Given the description of an element on the screen output the (x, y) to click on. 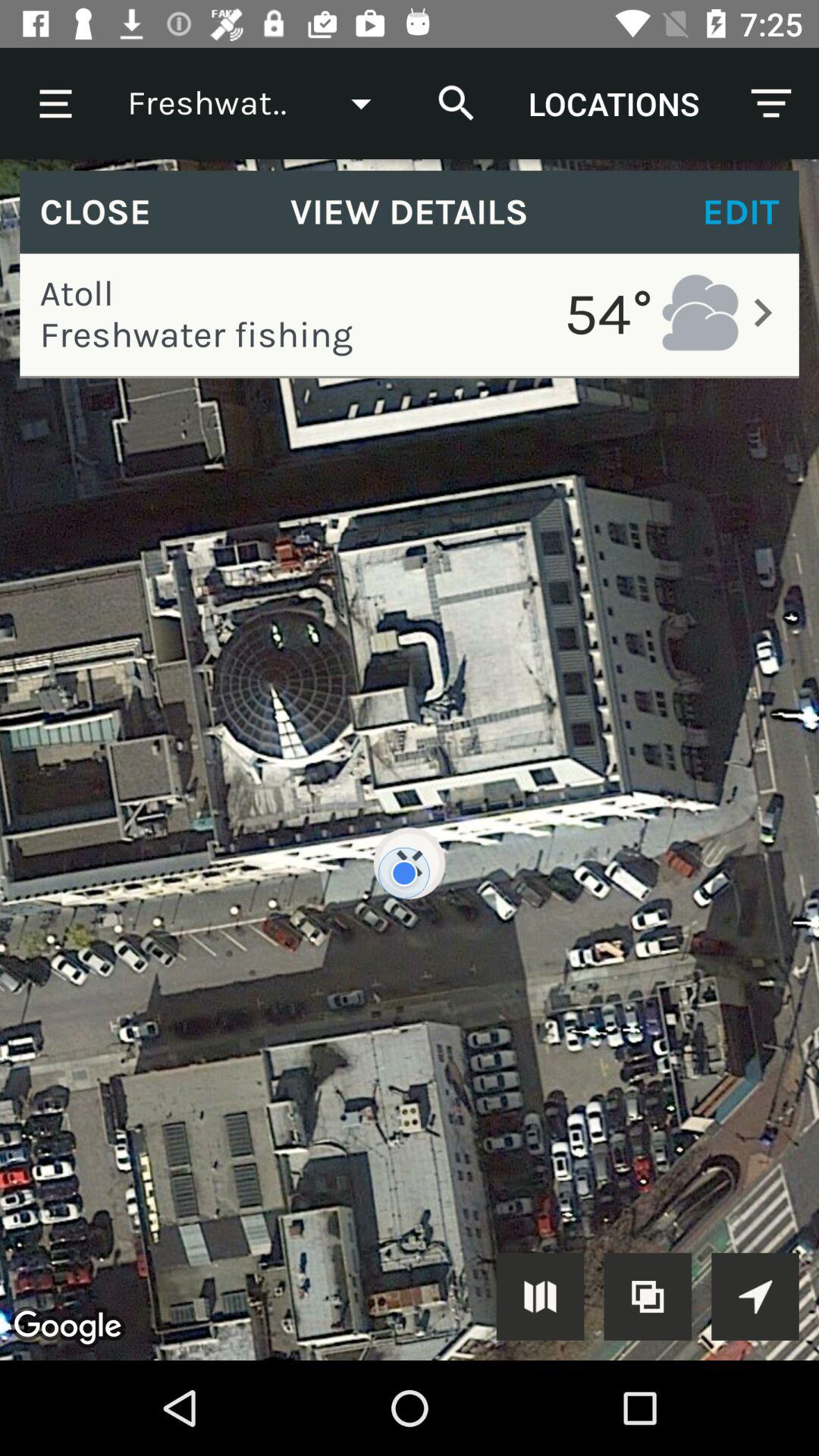
open more screens (540, 1296)
